Given the description of an element on the screen output the (x, y) to click on. 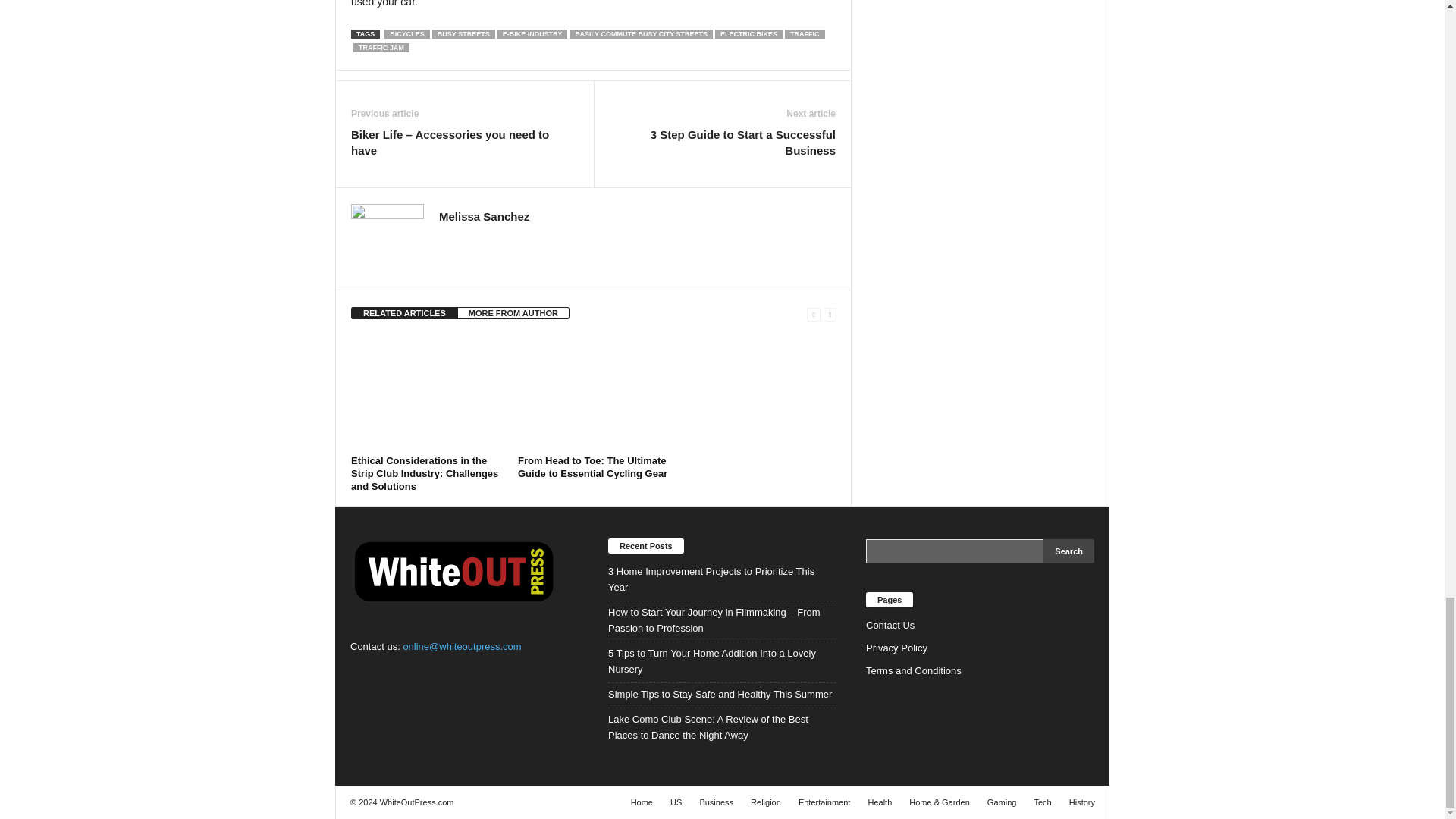
Search (1068, 550)
BICYCLES (406, 33)
E-BIKE INDUSTRY (532, 33)
BUSY STREETS (463, 33)
